Given the description of an element on the screen output the (x, y) to click on. 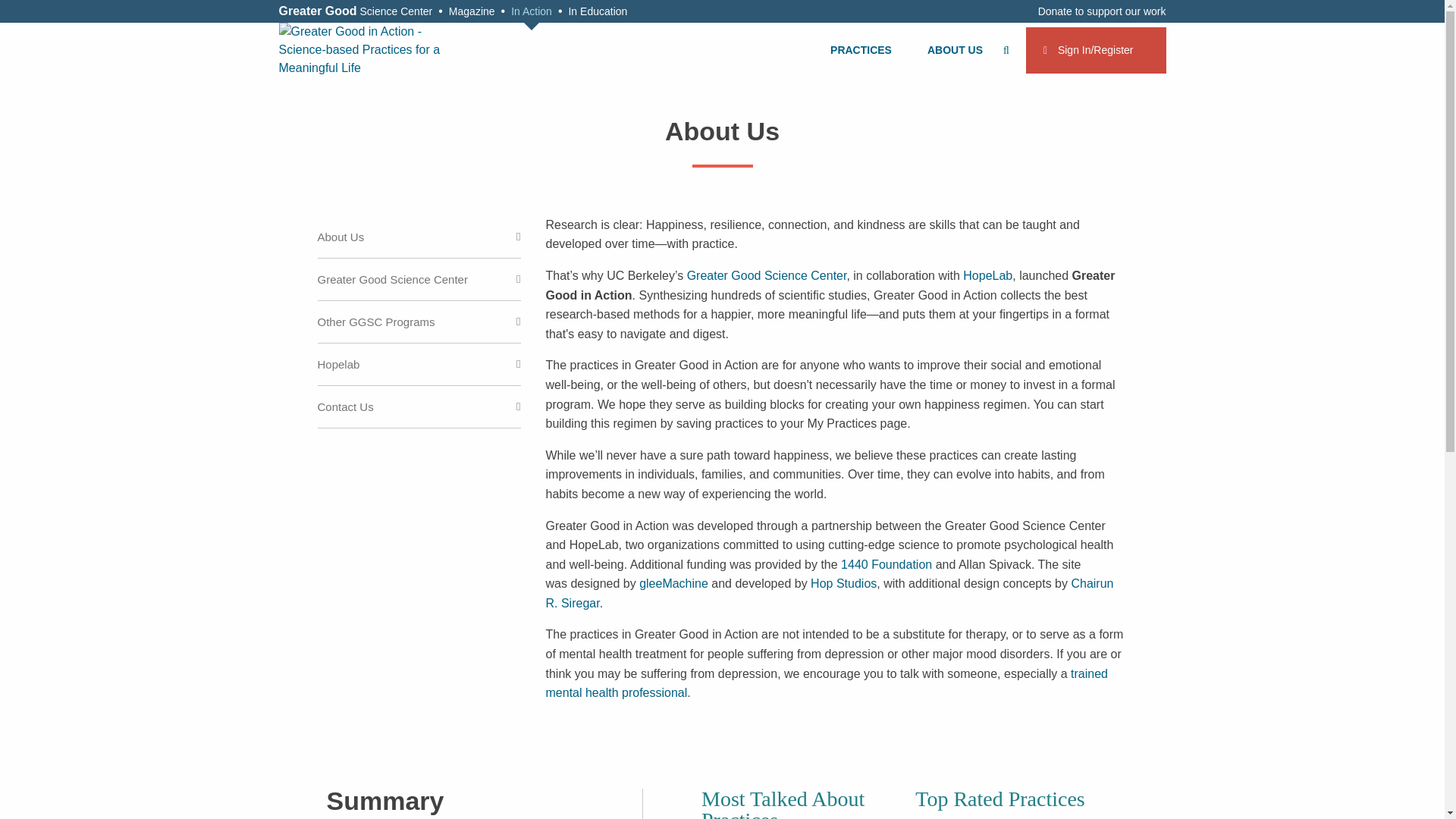
Greater Good Science Center (359, 11)
In Action (531, 11)
Magazine (471, 11)
Donate to support our work (1099, 11)
In Education (597, 11)
Greater Good Magazine (471, 11)
PRACTICES (862, 50)
Greater Good Science Center (359, 11)
